Given the description of an element on the screen output the (x, y) to click on. 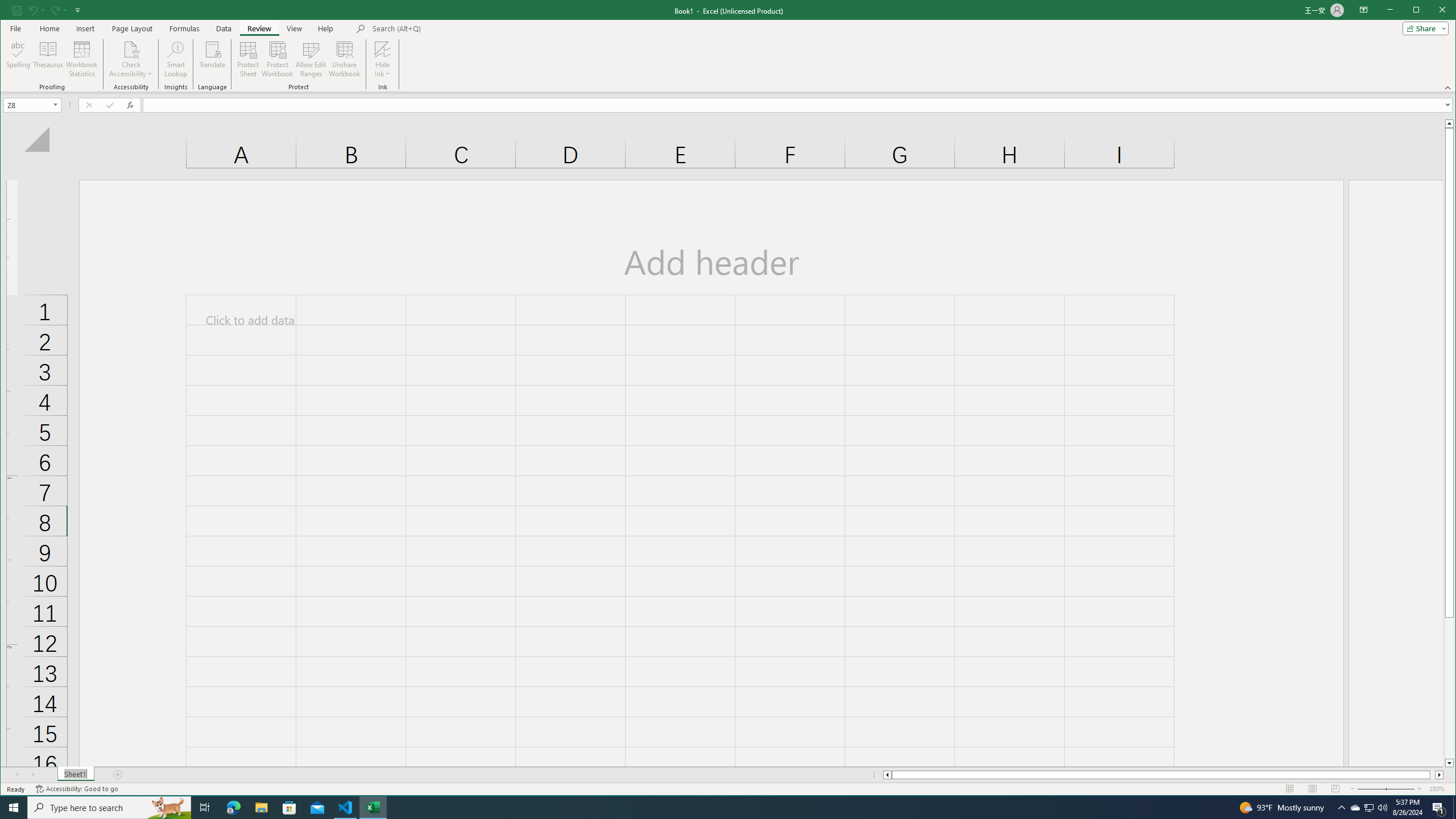
Protect Sheet... (247, 59)
Protect Workbook... (277, 59)
Allow Edit Ranges (310, 59)
